Given the description of an element on the screen output the (x, y) to click on. 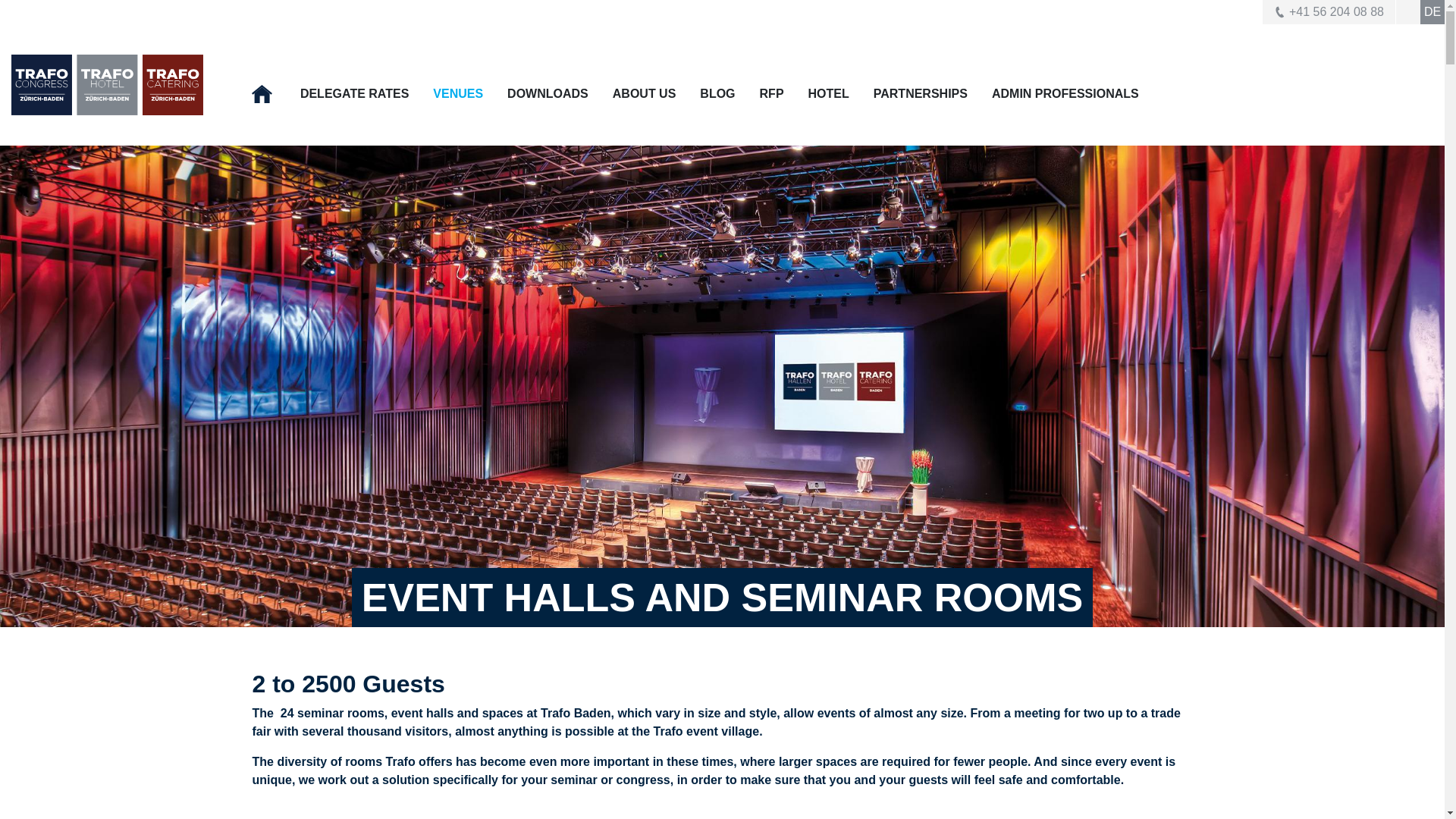
BLOG (717, 92)
HOME (263, 94)
RFP (772, 92)
DOWNLOADS (547, 92)
DELEGATE RATES (354, 92)
HOTEL (828, 92)
PARTNERSHIPS (920, 92)
VENUES (457, 92)
DE (1432, 12)
